Given the description of an element on the screen output the (x, y) to click on. 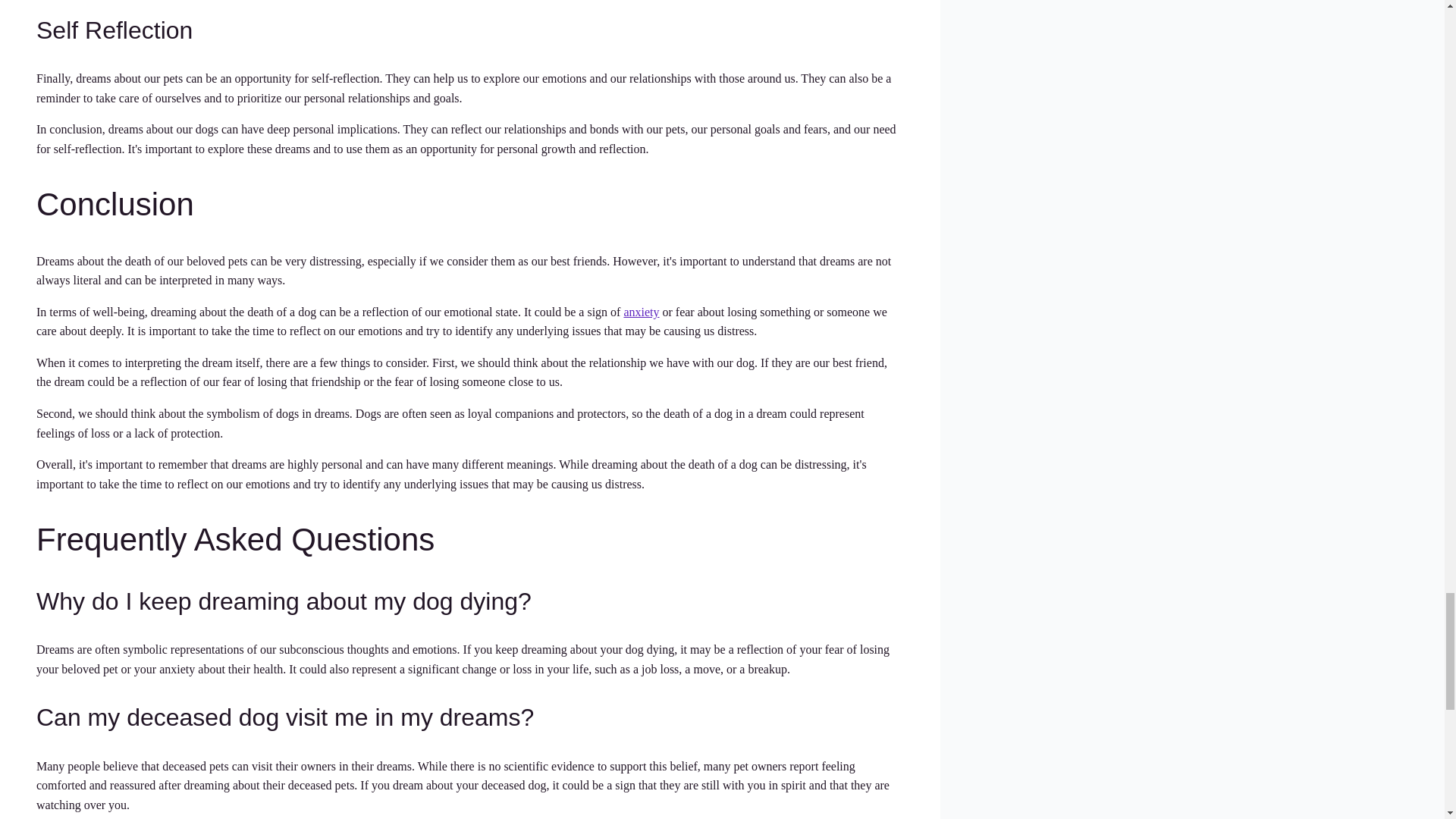
anxiety (641, 311)
Posts About Anxiety (641, 311)
